Given the description of an element on the screen output the (x, y) to click on. 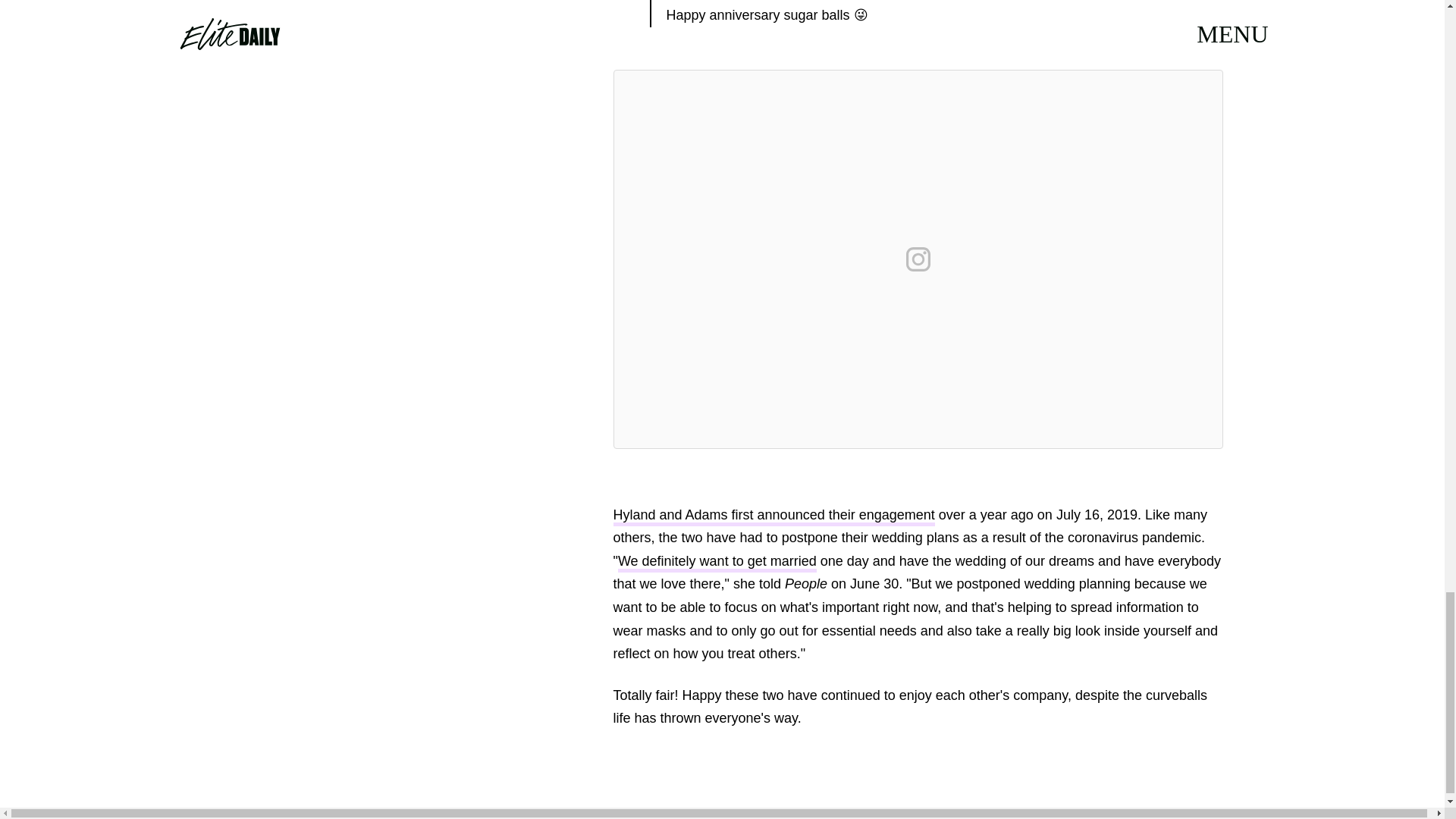
View on Instagram (917, 258)
We definitely want to get married (716, 562)
Hyland and Adams first announced their engagement (773, 516)
